Given the description of an element on the screen output the (x, y) to click on. 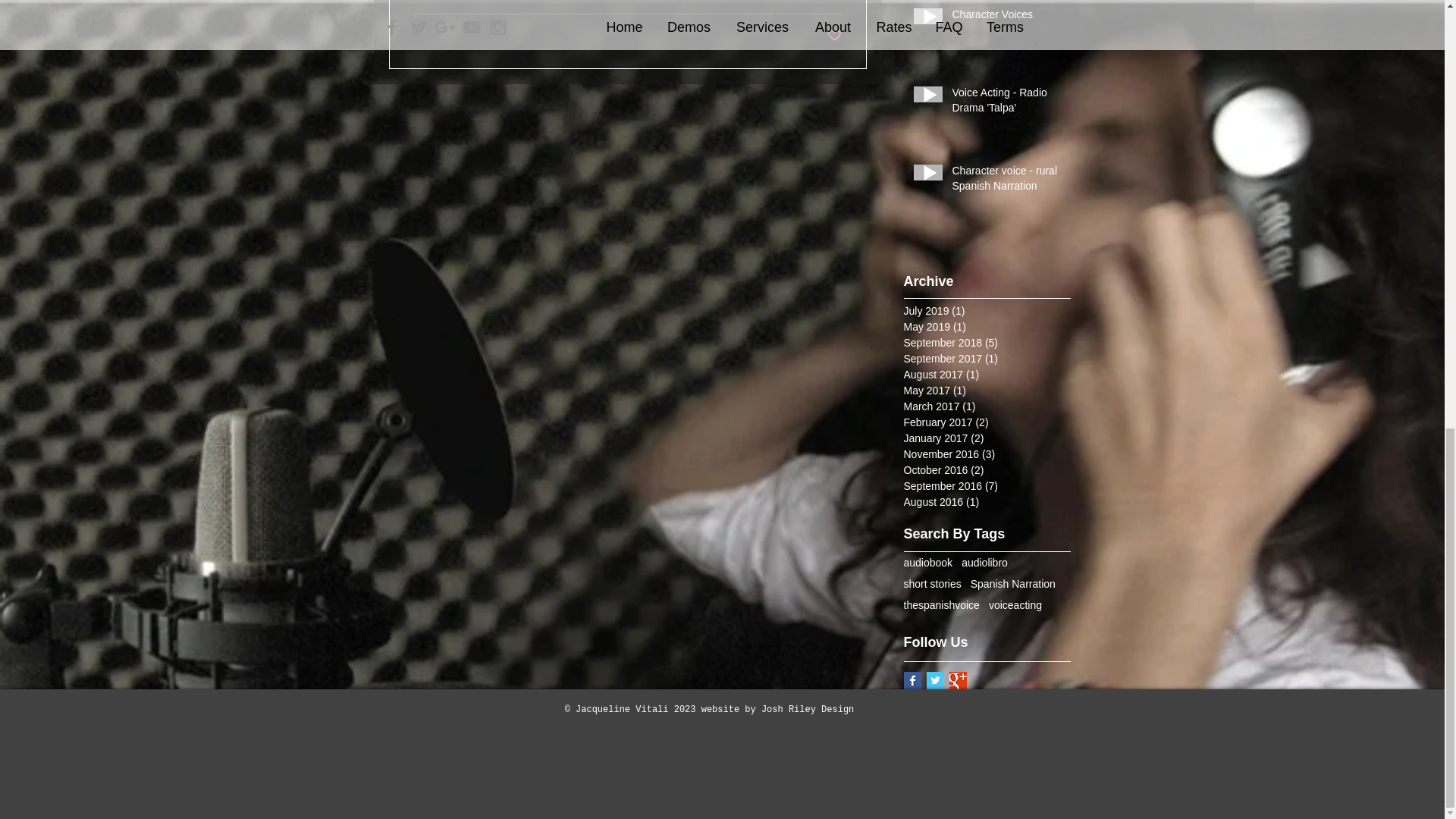
Post not marked as liked (834, 35)
Character Voices (1006, 17)
Voice Acting - Radio Drama 'Talpa' (1006, 103)
Character voice - rural Spanish Narration (1006, 181)
